Given the description of an element on the screen output the (x, y) to click on. 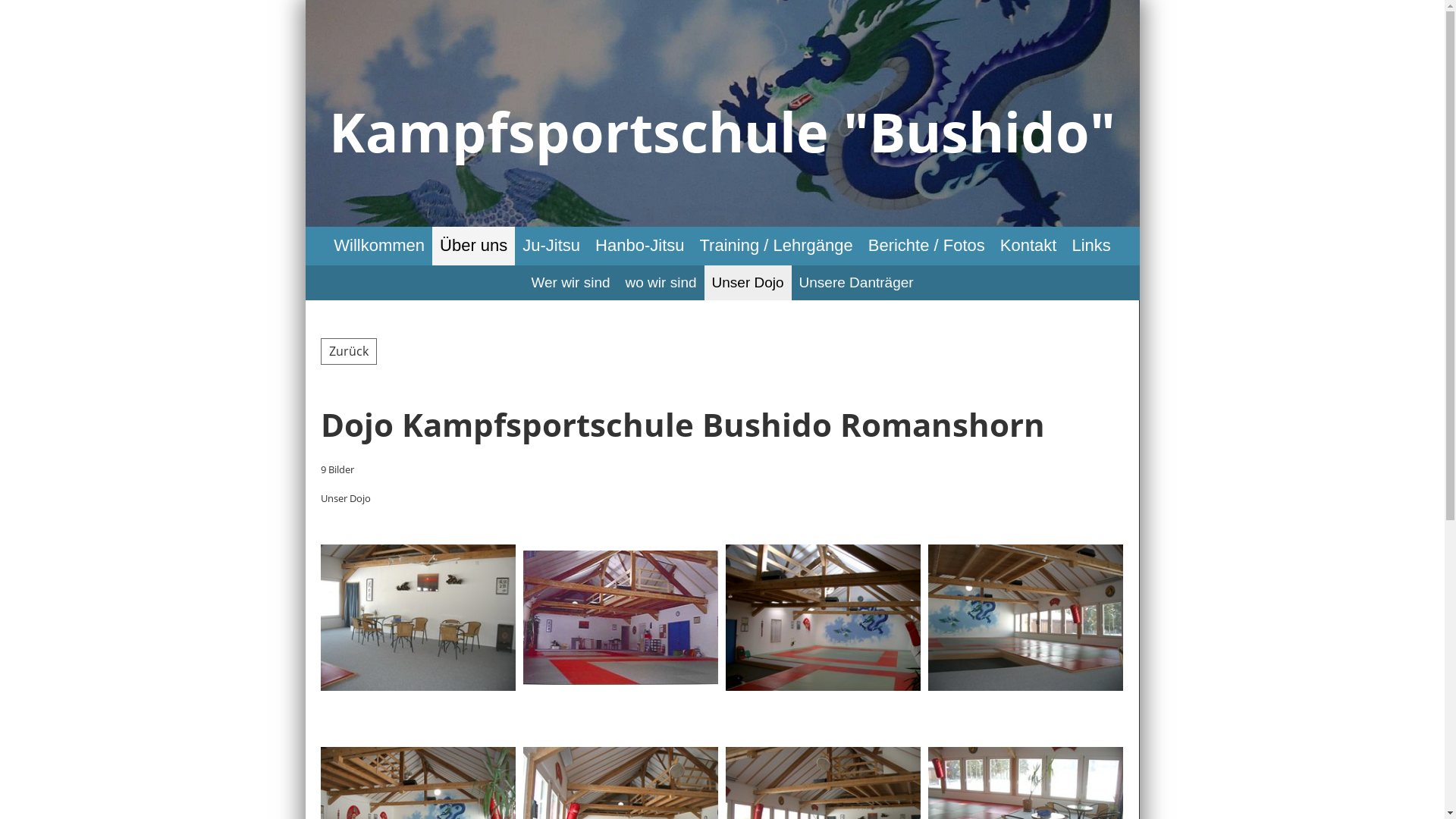
Wer wir sind Element type: text (570, 283)
wo wir sind Element type: text (661, 283)
Unser Dojo Element type: text (747, 283)
Hanbo-Jitsu Element type: text (639, 245)
Kontakt Element type: text (1028, 245)
Links Element type: text (1090, 245)
Berichte / Fotos Element type: text (926, 245)
Willkommen Element type: text (379, 245)
Ju-Jitsu Element type: text (550, 245)
